Given the description of an element on the screen output the (x, y) to click on. 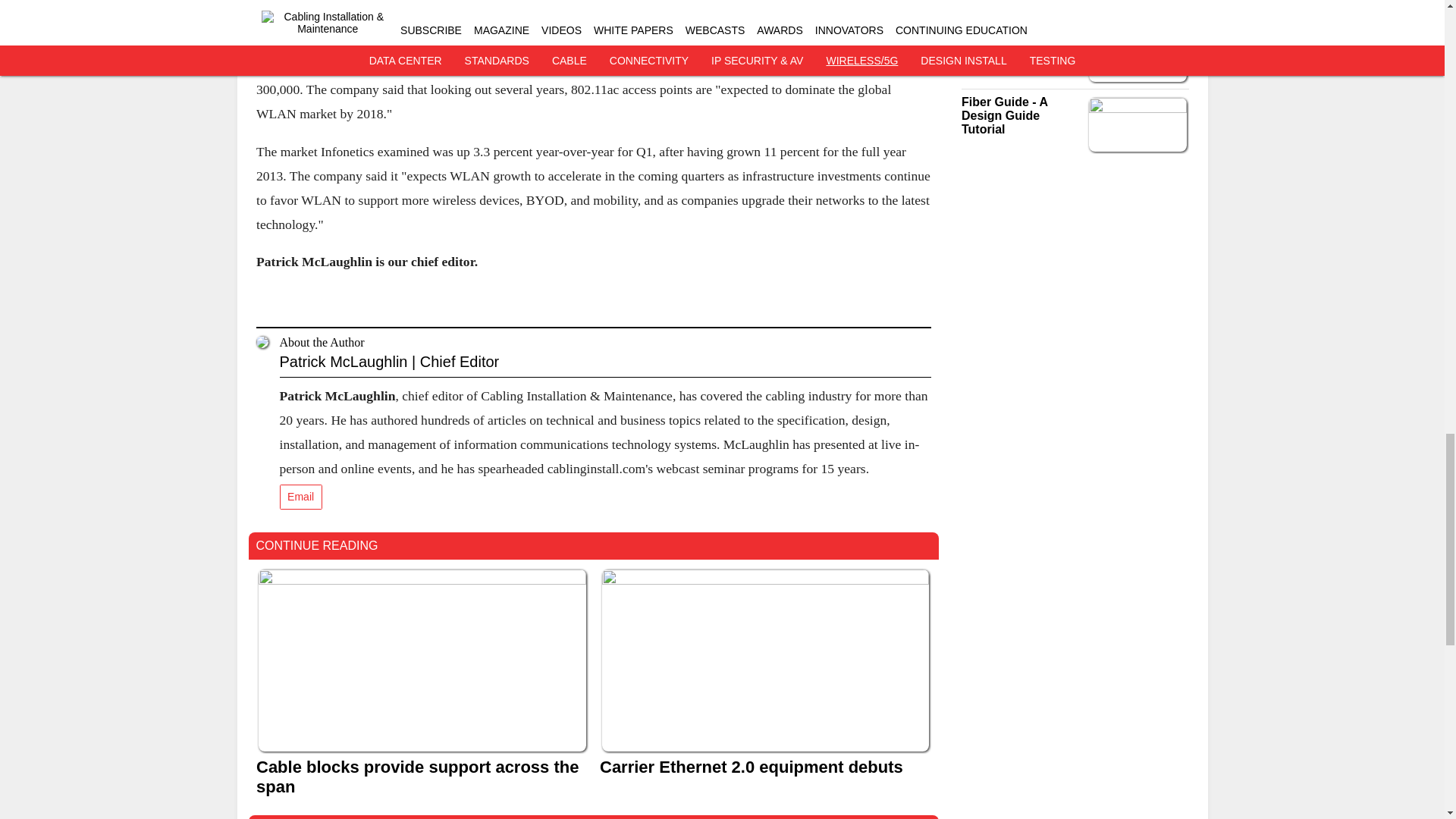
Cable blocks provide support across the span (422, 776)
Carrier Ethernet 2.0 equipment debuts (764, 766)
Email (300, 496)
